Given the description of an element on the screen output the (x, y) to click on. 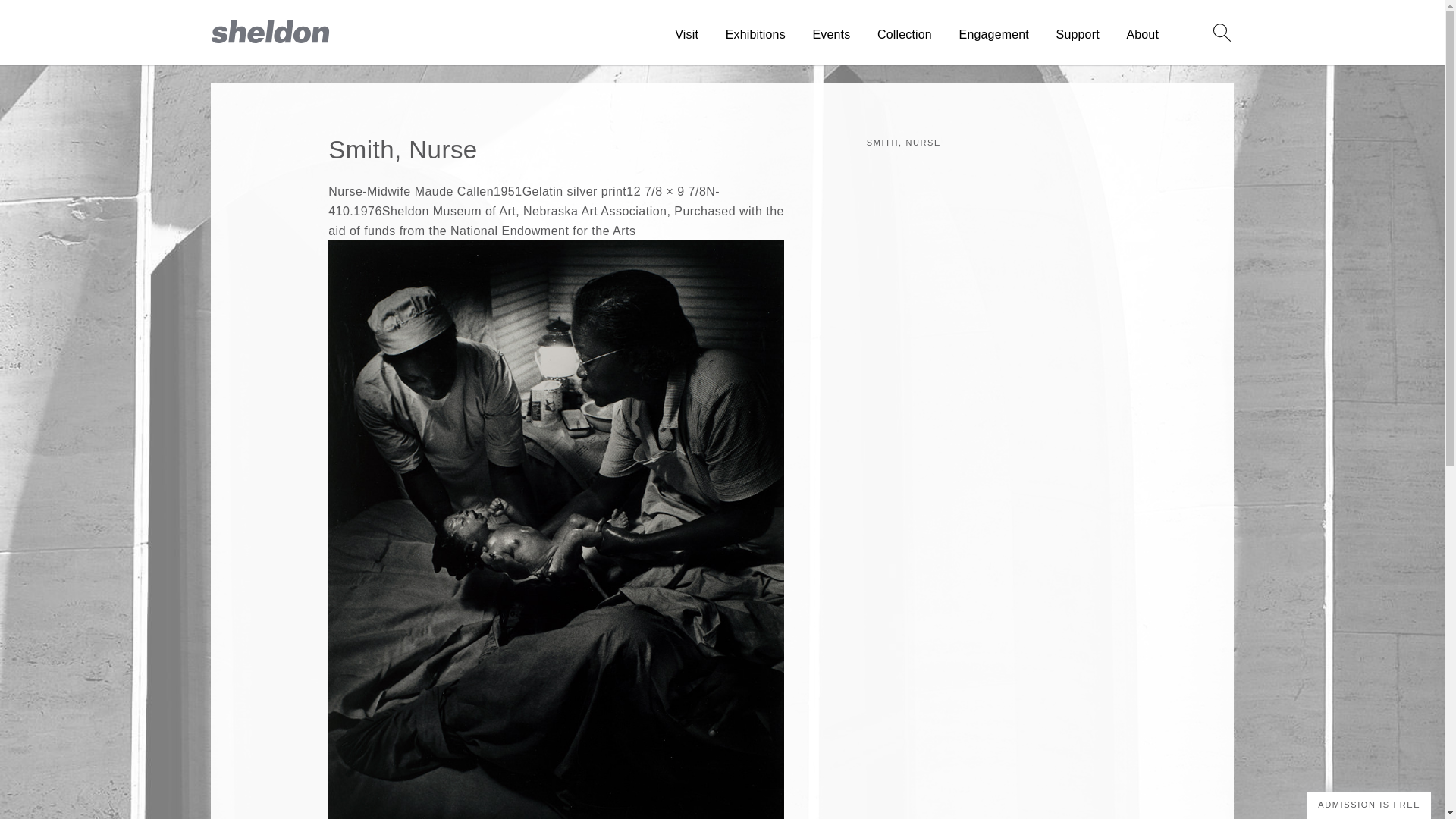
Search (1222, 33)
Exhibitions (755, 34)
Sheldon Museum of Art (270, 38)
Collection (904, 34)
Visit (686, 34)
Support (1078, 34)
Engagement (994, 34)
Events (831, 34)
About (1141, 34)
